Given the description of an element on the screen output the (x, y) to click on. 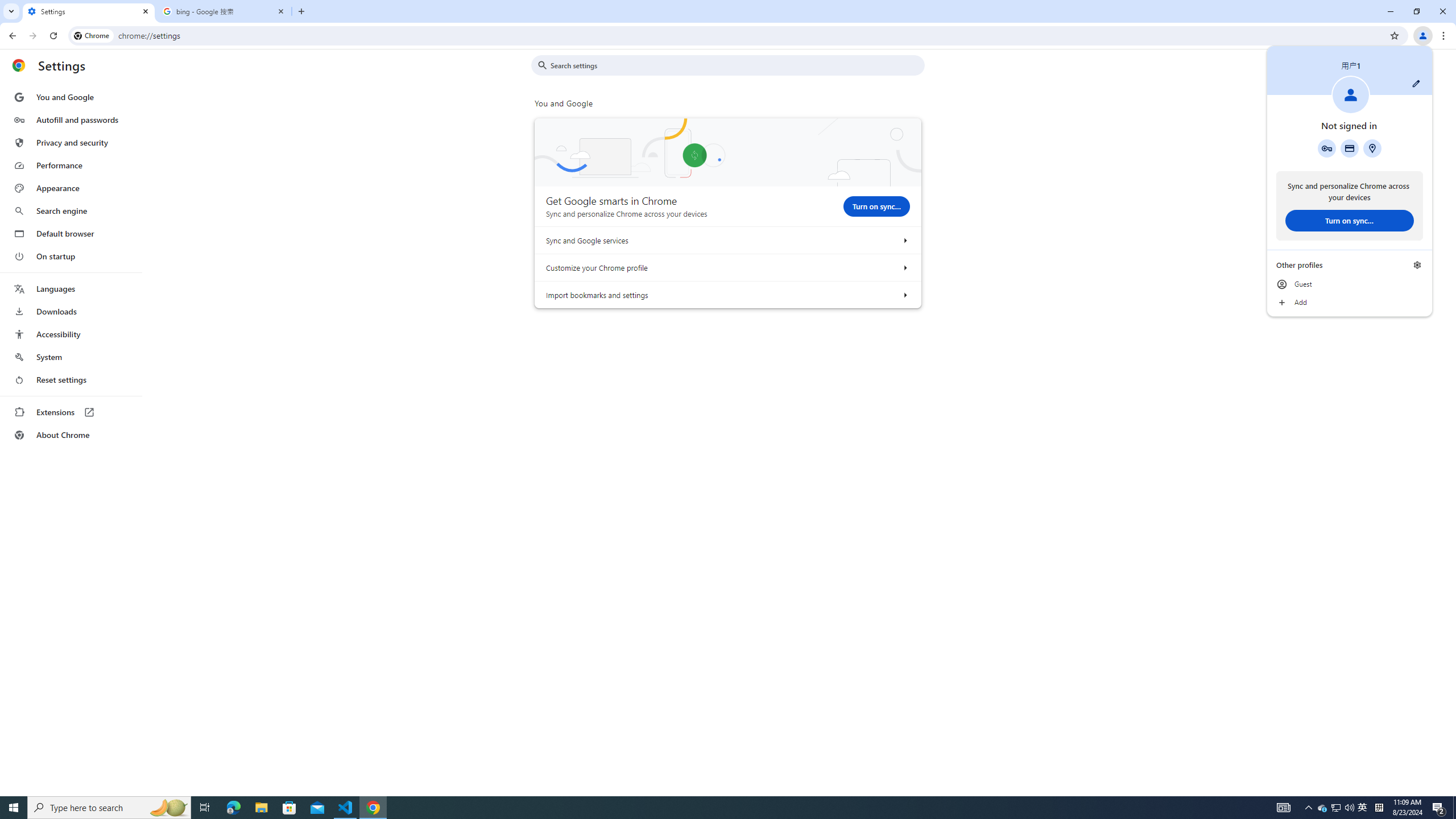
Import bookmarks and settings (1322, 807)
Microsoft Store (904, 294)
Reset settings (289, 807)
Visual Studio Code - 1 running window (1335, 807)
Performance (70, 379)
AutomationID: menu (345, 807)
Appearance (70, 164)
Running applications (71, 265)
